Given the description of an element on the screen output the (x, y) to click on. 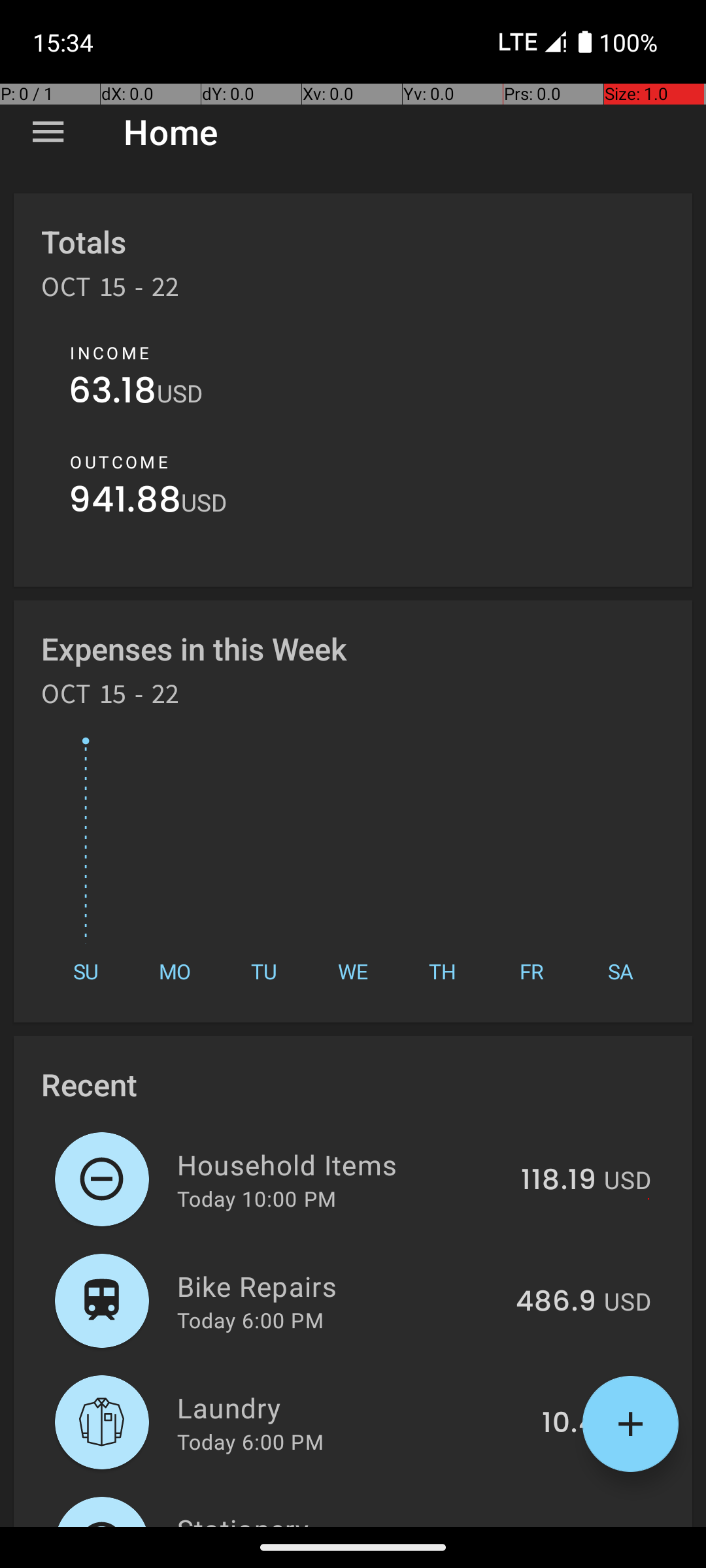
63.18 Element type: android.widget.TextView (112, 393)
941.88 Element type: android.widget.TextView (124, 502)
Household Items Element type: android.widget.TextView (341, 1164)
118.19 Element type: android.widget.TextView (558, 1180)
Bike Repairs Element type: android.widget.TextView (338, 1285)
486.9 Element type: android.widget.TextView (555, 1301)
10.4 Element type: android.widget.TextView (568, 1423)
326.39 Element type: android.widget.TextView (548, 1524)
